Given the description of an element on the screen output the (x, y) to click on. 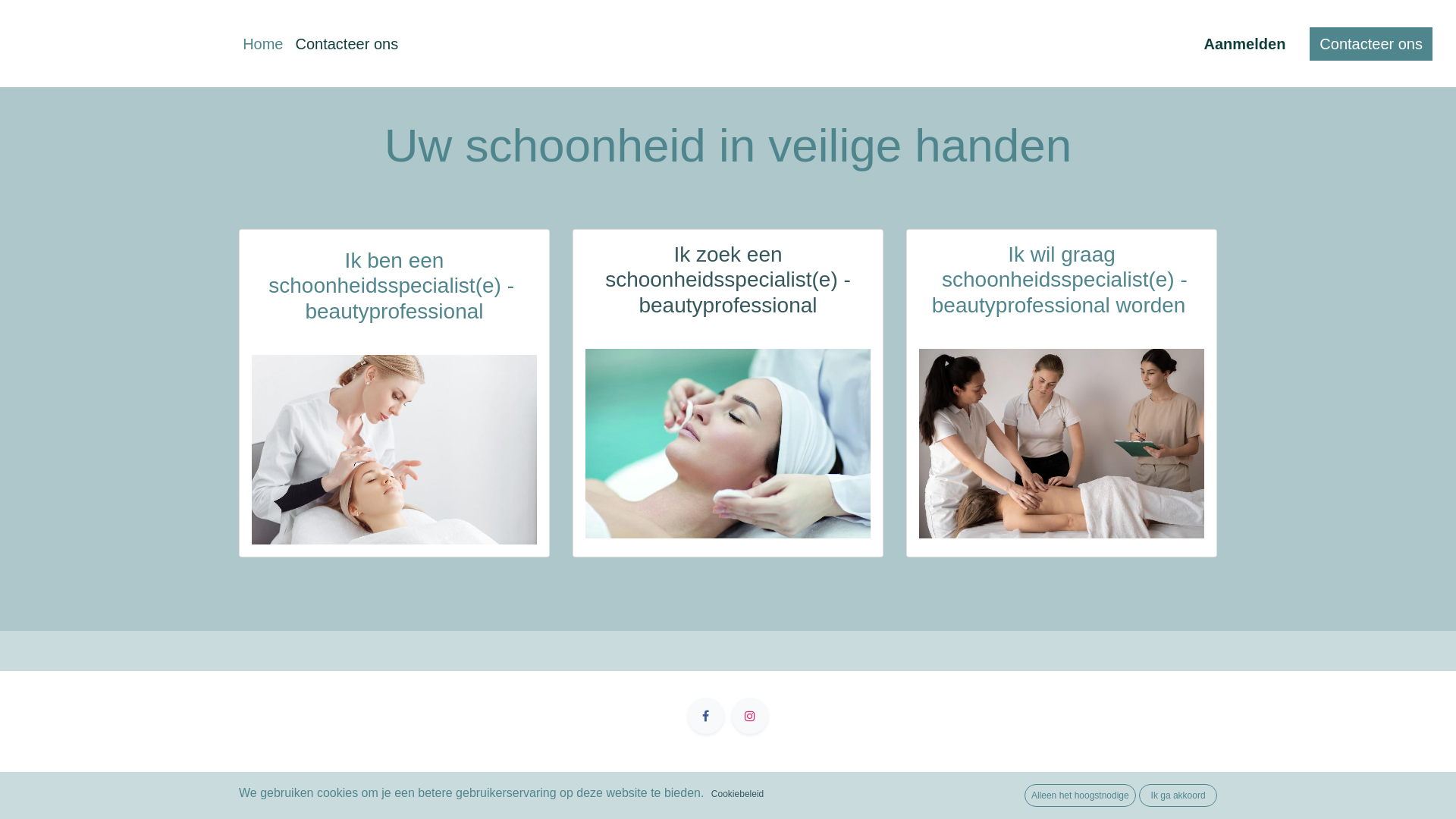
Ik ga akkoord Element type: text (1178, 795)
Cookiebeleid Element type: text (737, 793)
Aanmelden Element type: text (1245, 43)
Contacteer ons Element type: text (346, 43)
Home Element type: text (262, 43)
Besko Element type: hover (120, 43)
Contacteer ons Element type: text (1370, 43)
Alleen het hoogstnodige Element type: text (1079, 795)
Ik ben een schoonheidsspecialist(e) -  beautyprofessional Element type: text (393, 285)
Ik zoek een schoonheidsspecialist(e) - beautyprofessional Element type: text (727, 279)
